Given the description of an element on the screen output the (x, y) to click on. 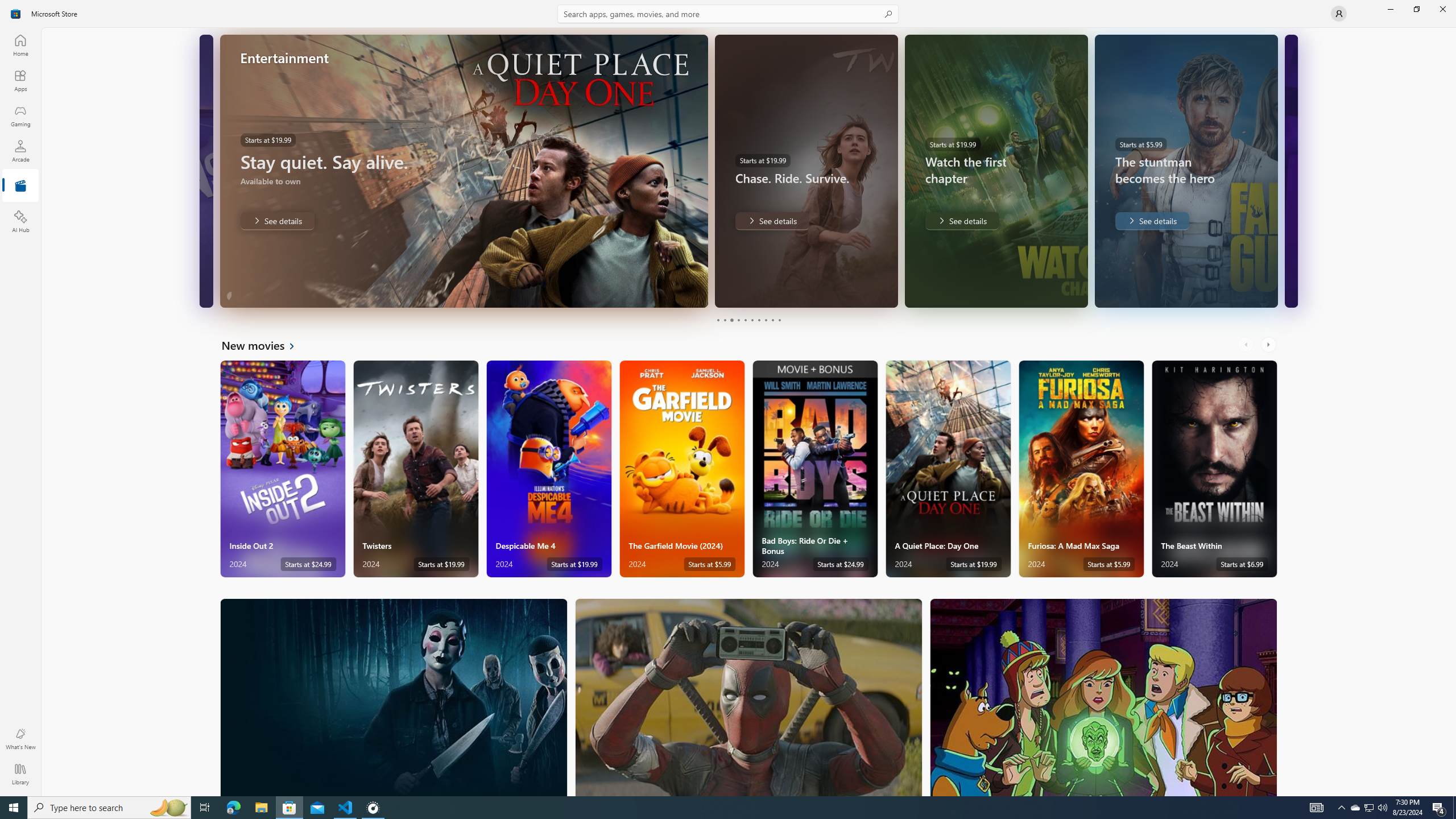
See all  New movies (264, 345)
Page 7 (758, 319)
AutomationID: NavigationControl (728, 398)
Pager (748, 319)
The Beast Within. Starts at $6.99   (1213, 469)
Page 3 (731, 319)
AutomationID: LeftScrollButton (1246, 344)
Page 10 (779, 319)
Page 4 (738, 319)
